Given the description of an element on the screen output the (x, y) to click on. 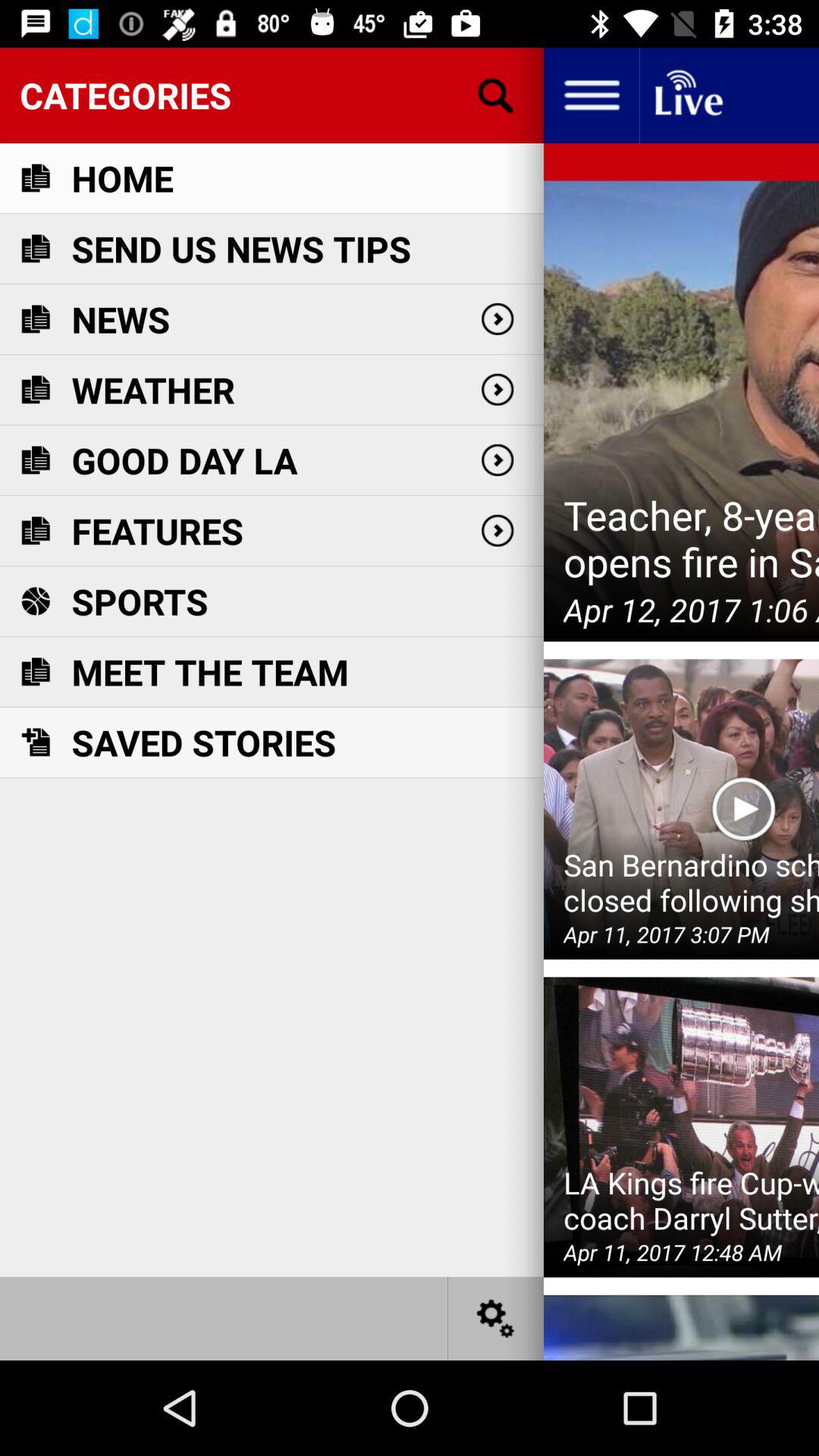
turn on the item above the send us news icon (122, 178)
